Given the description of an element on the screen output the (x, y) to click on. 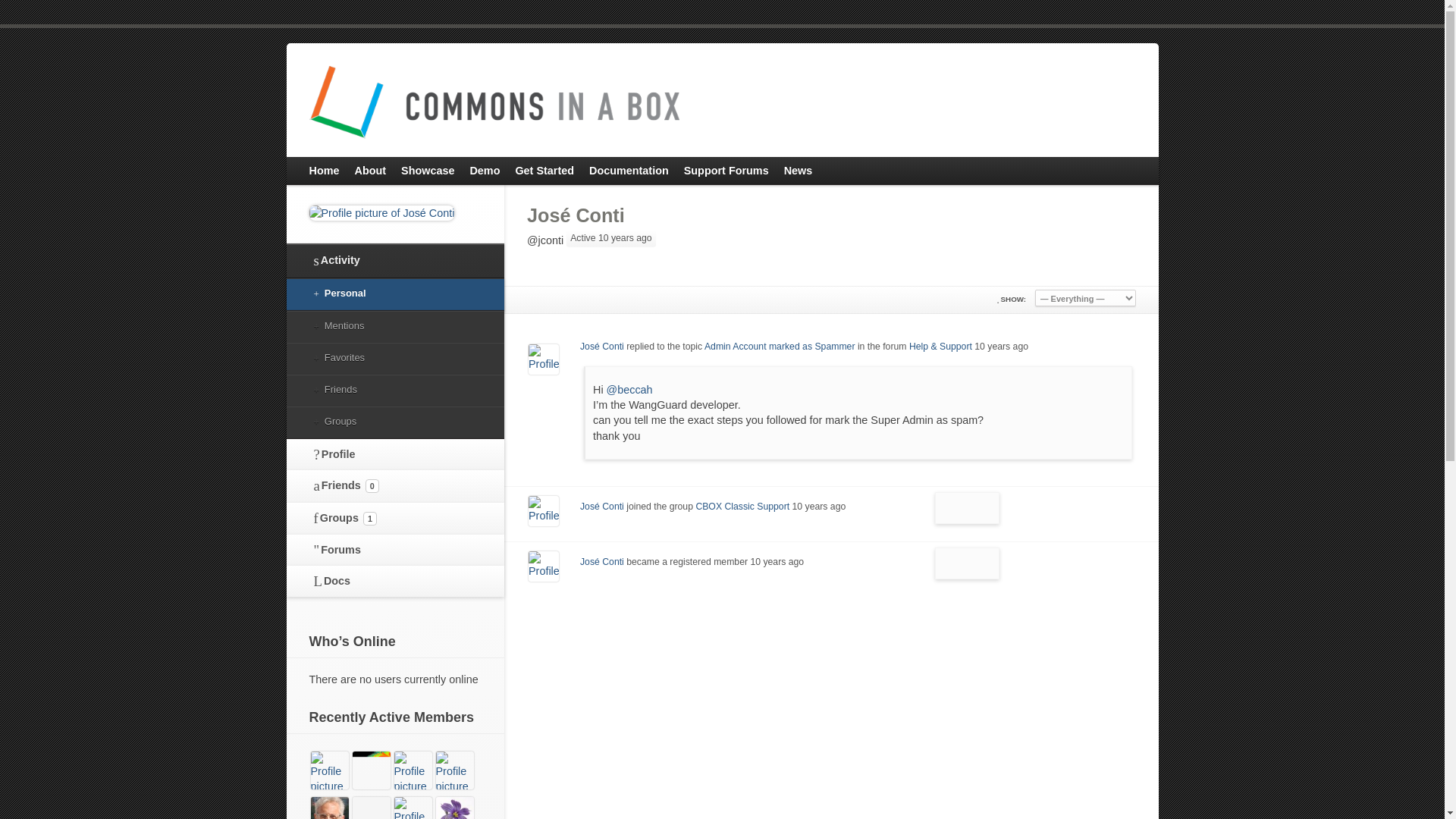
10 years ago (1000, 346)
About (369, 170)
Get Started (543, 170)
Admin Account marked as Spammer (780, 346)
News (798, 170)
Support Forums (726, 170)
Home (324, 170)
Showcase (427, 170)
Demo (483, 170)
Documentation (628, 170)
